Given the description of an element on the screen output the (x, y) to click on. 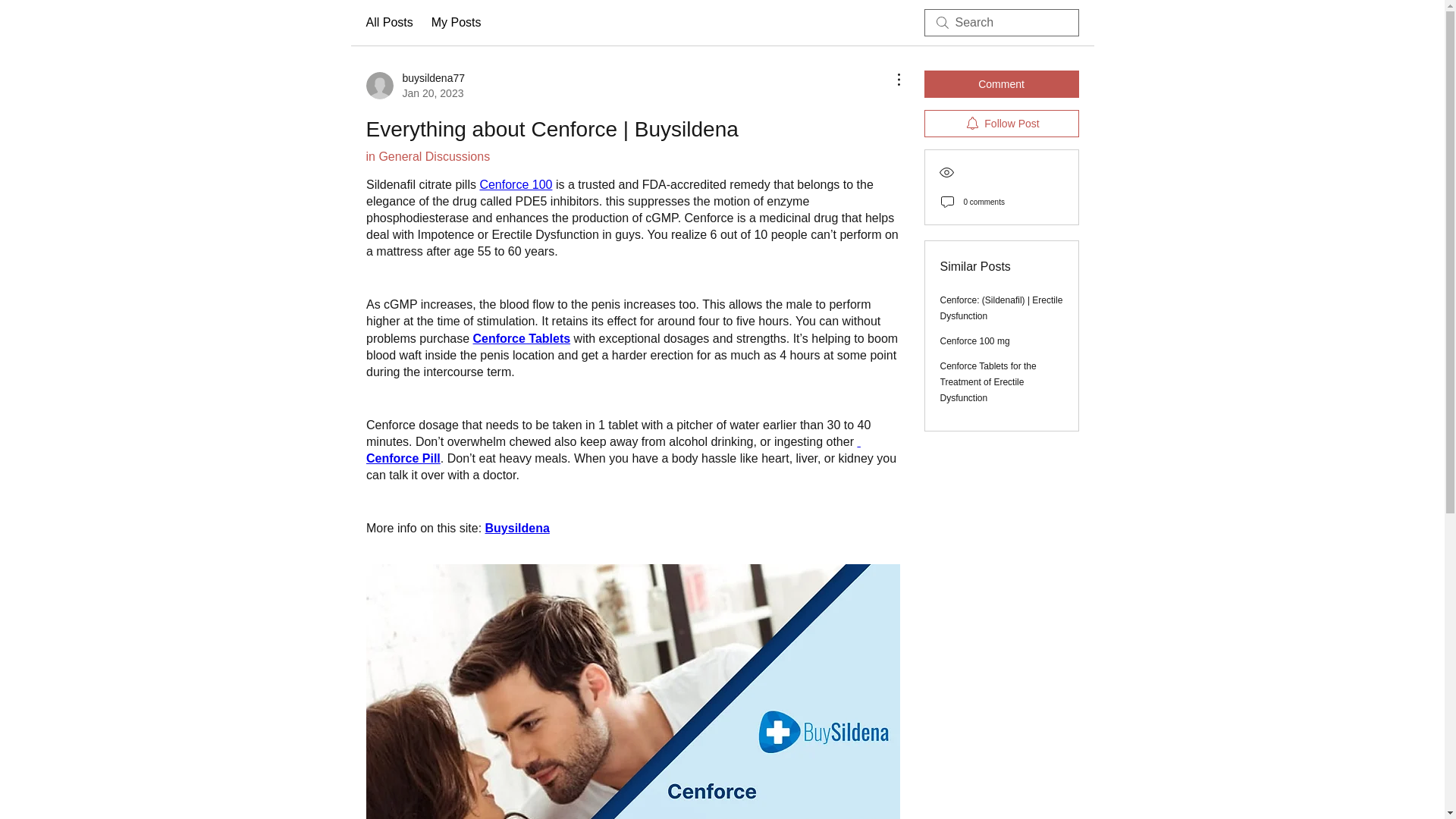
All Posts (388, 22)
in General Discussions (427, 155)
 Cenforce Pill (612, 449)
Follow Post (1000, 123)
My Posts (455, 22)
Cenforce Tablets (520, 338)
Comment (1000, 83)
Cenforce 100 (515, 184)
Cenforce Tablets for the Treatment of Erectile Dysfunction (988, 382)
Buysildena (516, 527)
Cenforce 100 mg (975, 340)
